Given the description of an element on the screen output the (x, y) to click on. 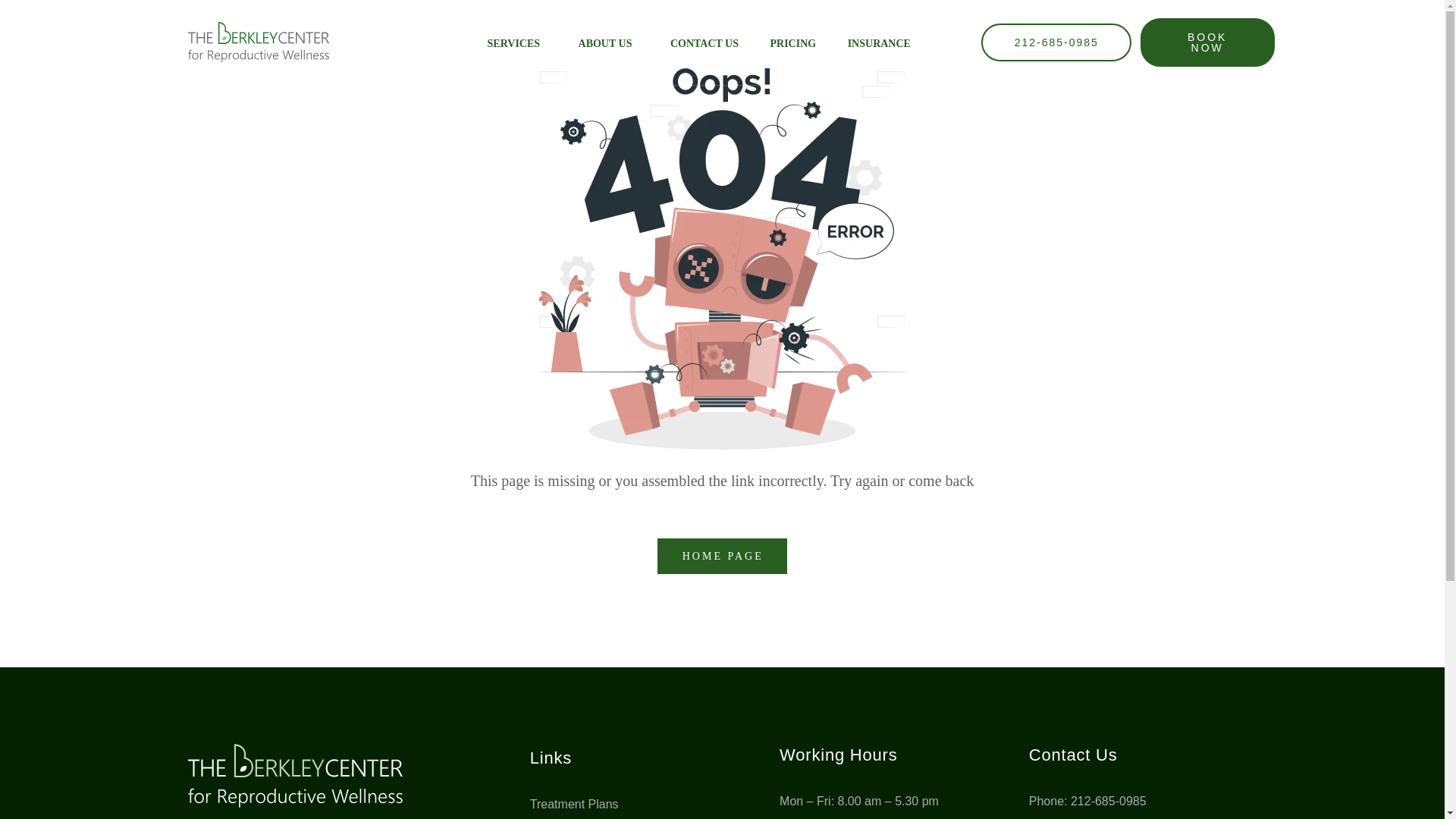
BOOK NOW (1207, 42)
212-685-0985 (1056, 42)
